Given the description of an element on the screen output the (x, y) to click on. 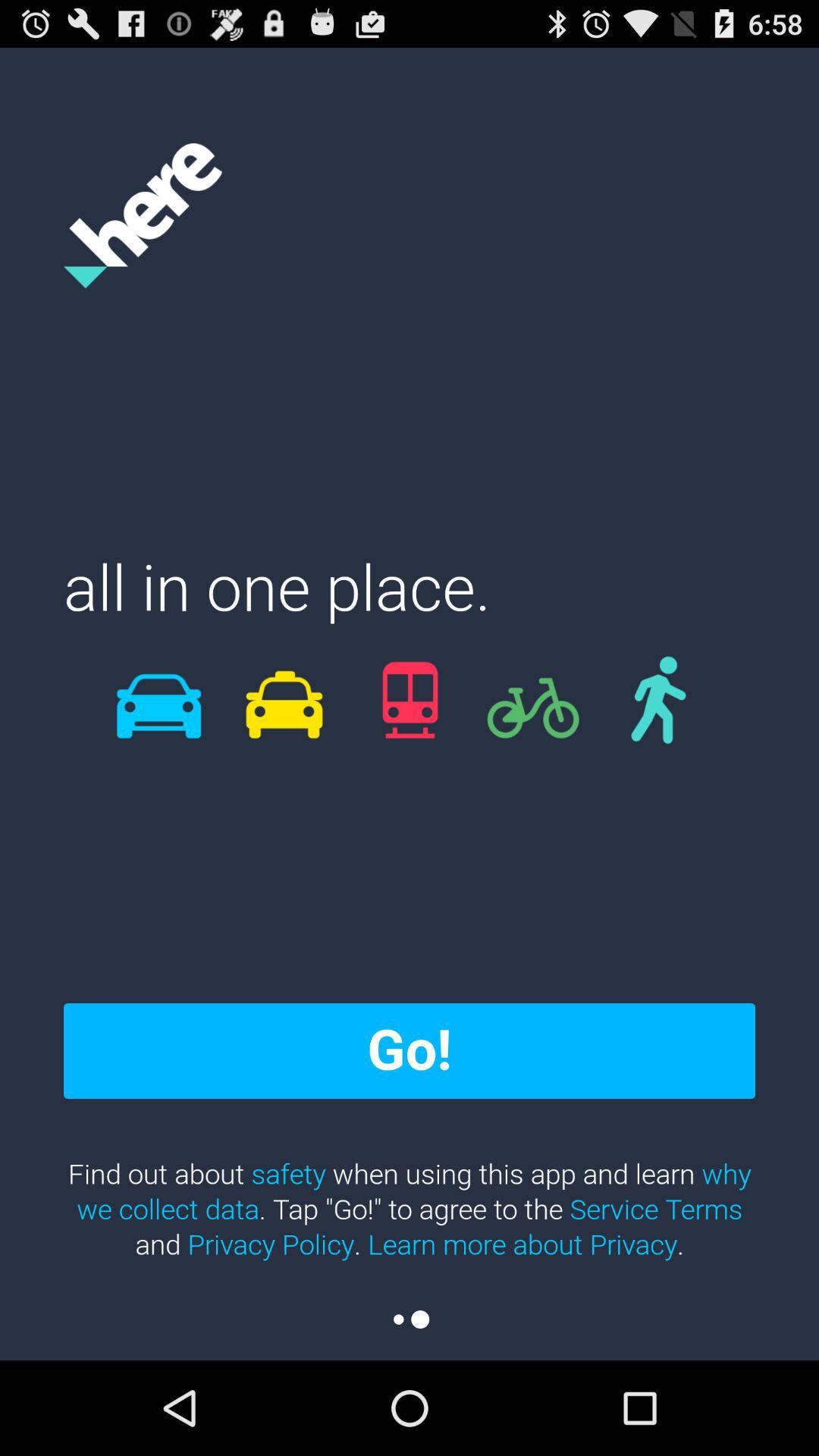
scroll until the find out about (409, 1208)
